Given the description of an element on the screen output the (x, y) to click on. 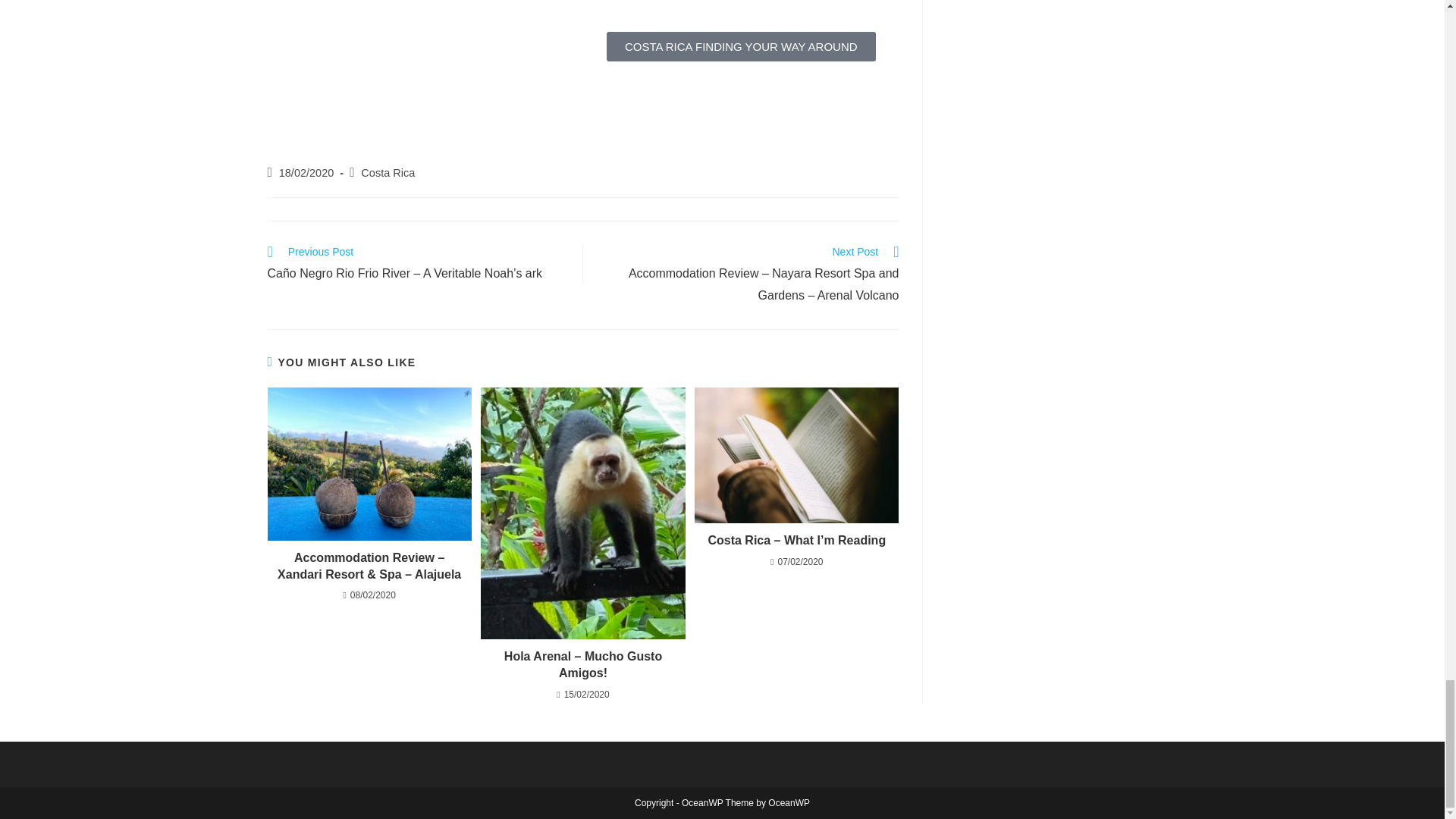
COSTA RICA FINDING YOUR WAY AROUND (741, 46)
Costa Rica (387, 173)
